Given the description of an element on the screen output the (x, y) to click on. 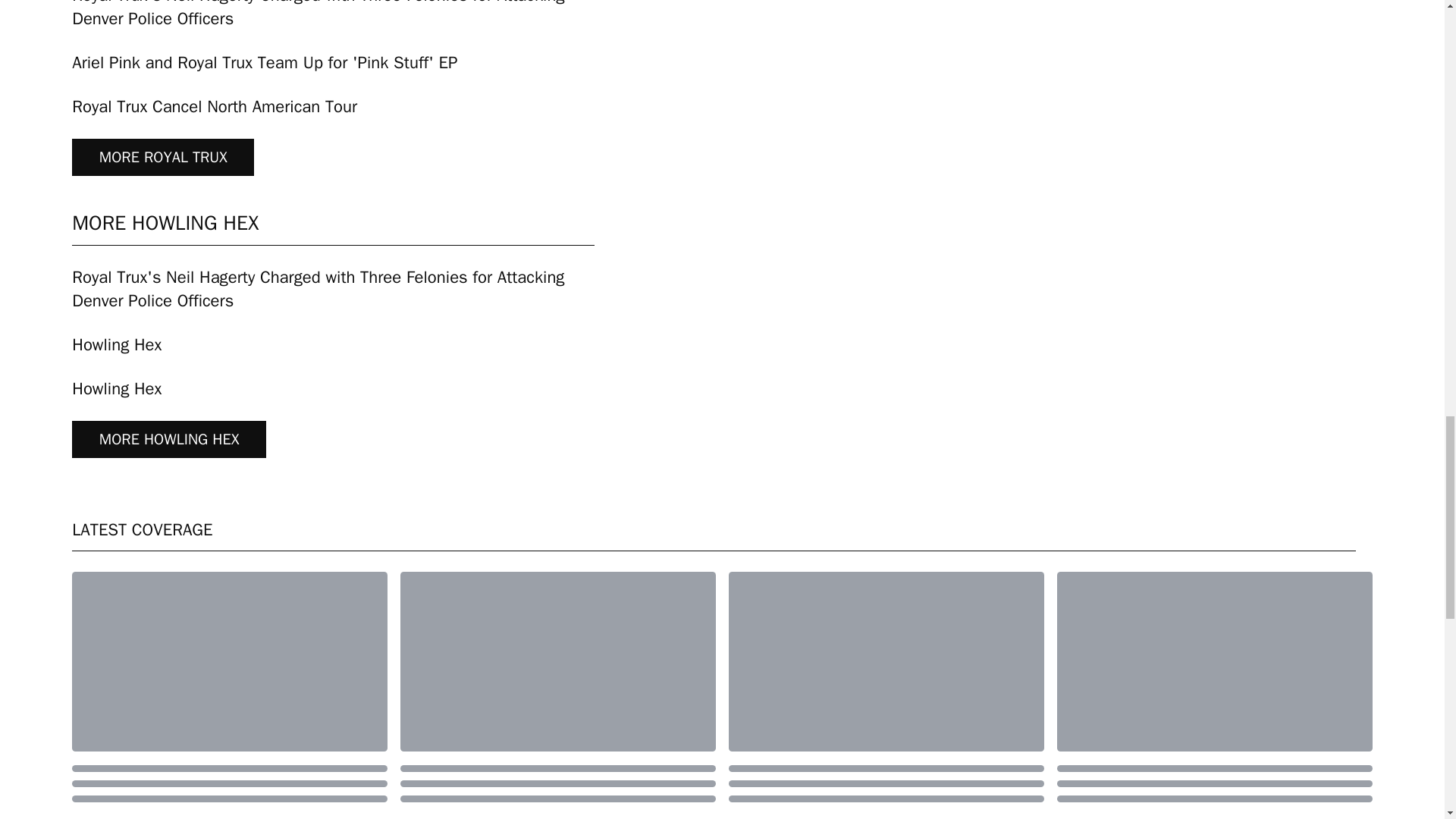
Royal Trux Cancel North American Tour (213, 107)
Howling Hex (116, 345)
Ariel Pink and Royal Trux Team Up for 'Pink Stuff' EP (264, 63)
MORE HOWLING HEX (168, 438)
Howling Hex (116, 389)
MORE ROYAL TRUX (162, 157)
